Given the description of an element on the screen output the (x, y) to click on. 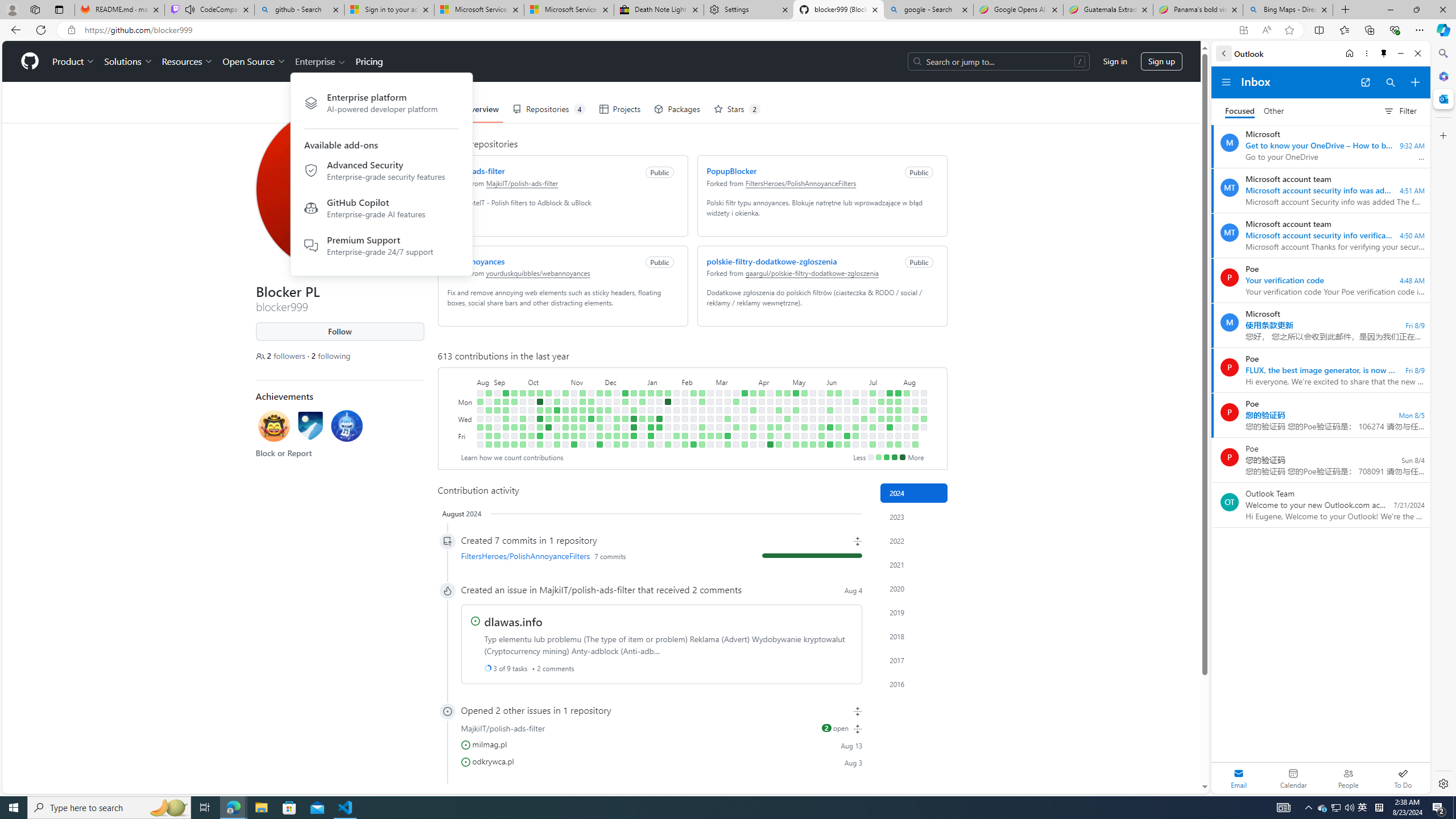
People (1347, 777)
View blocker999's full-sized avatar (338, 188)
7 contributions on January 11th. (650, 427)
2 contributions on March 21st. (735, 427)
Other (1273, 110)
Tuesday (465, 410)
Sunday (465, 392)
1 contribution on February 23rd. (701, 435)
3 contributions on September 9th. (496, 444)
2 contributions on October 8th. (539, 392)
1 contribution on August 17th. (914, 444)
2 contributions on April 18th. (770, 427)
No contributions on July 6th. (863, 444)
Learn how we count contributions (511, 456)
No contributions on August 14th. (914, 418)
